Given the description of an element on the screen output the (x, y) to click on. 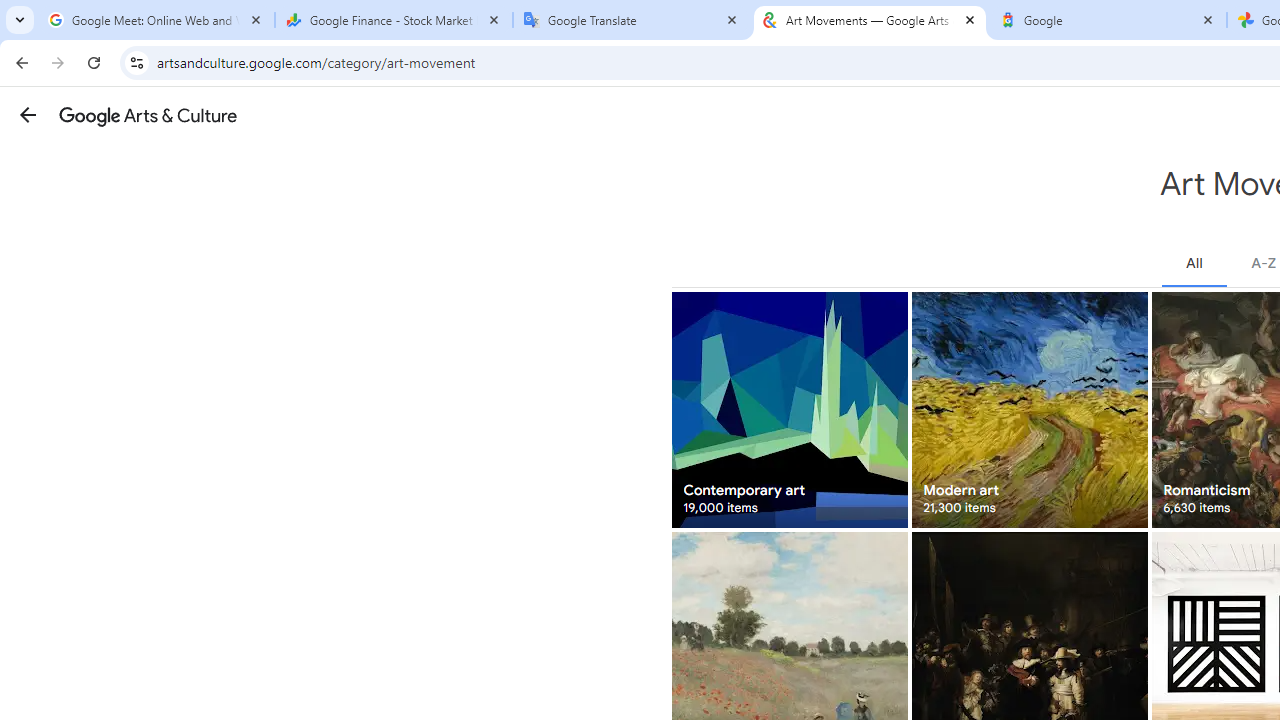
Modern art 21,300 items (1029, 409)
Google (1108, 20)
Google Translate (632, 20)
All (1194, 263)
Google Arts & Culture (148, 115)
